Given the description of an element on the screen output the (x, y) to click on. 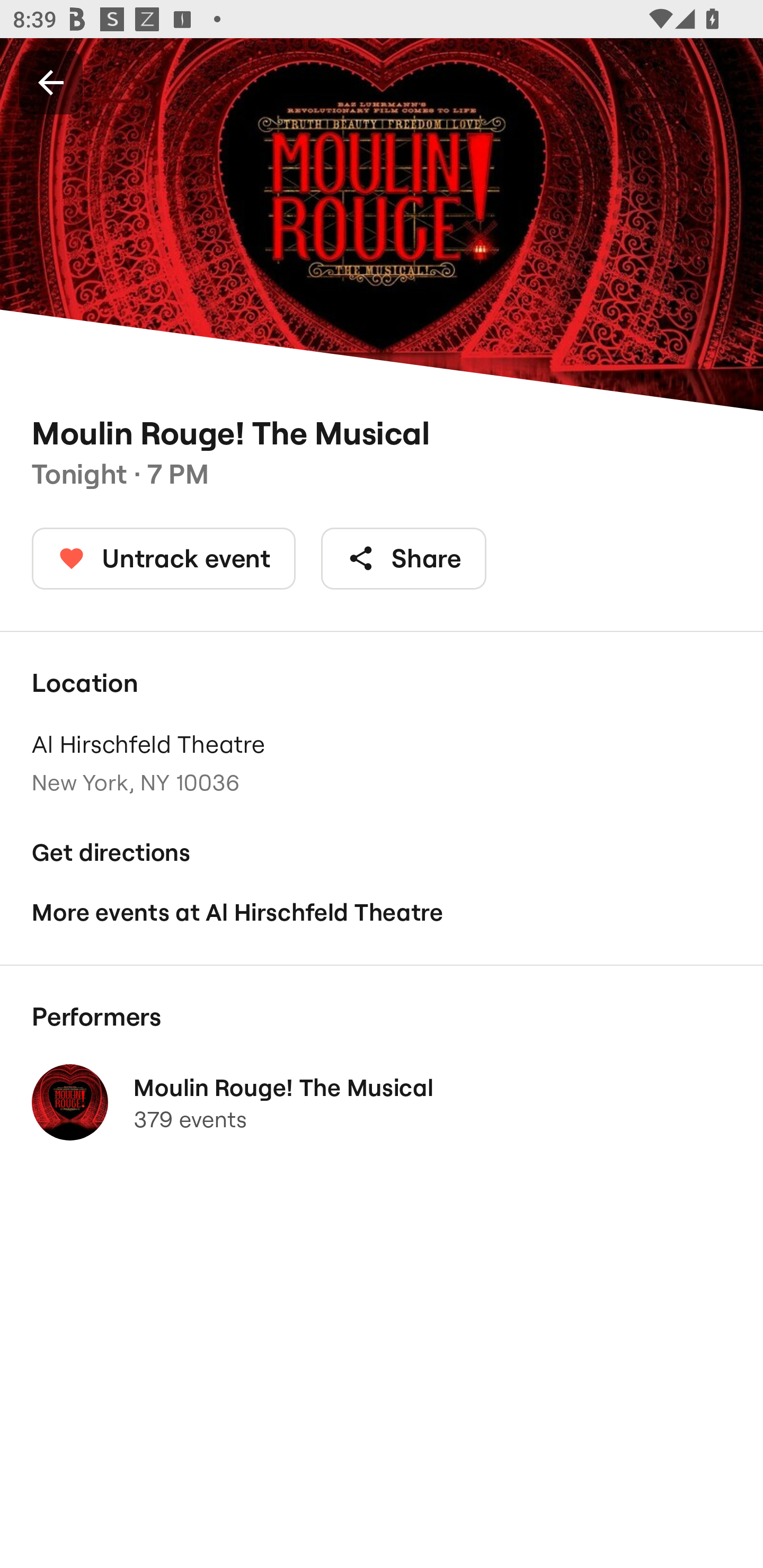
Back (50, 81)
Untrack event (164, 557)
Share (403, 557)
Get directions (381, 852)
More events at Al Hirschfeld Theatre (381, 912)
Moulin Rouge! The Musical 379 events (381, 1102)
